Given the description of an element on the screen output the (x, y) to click on. 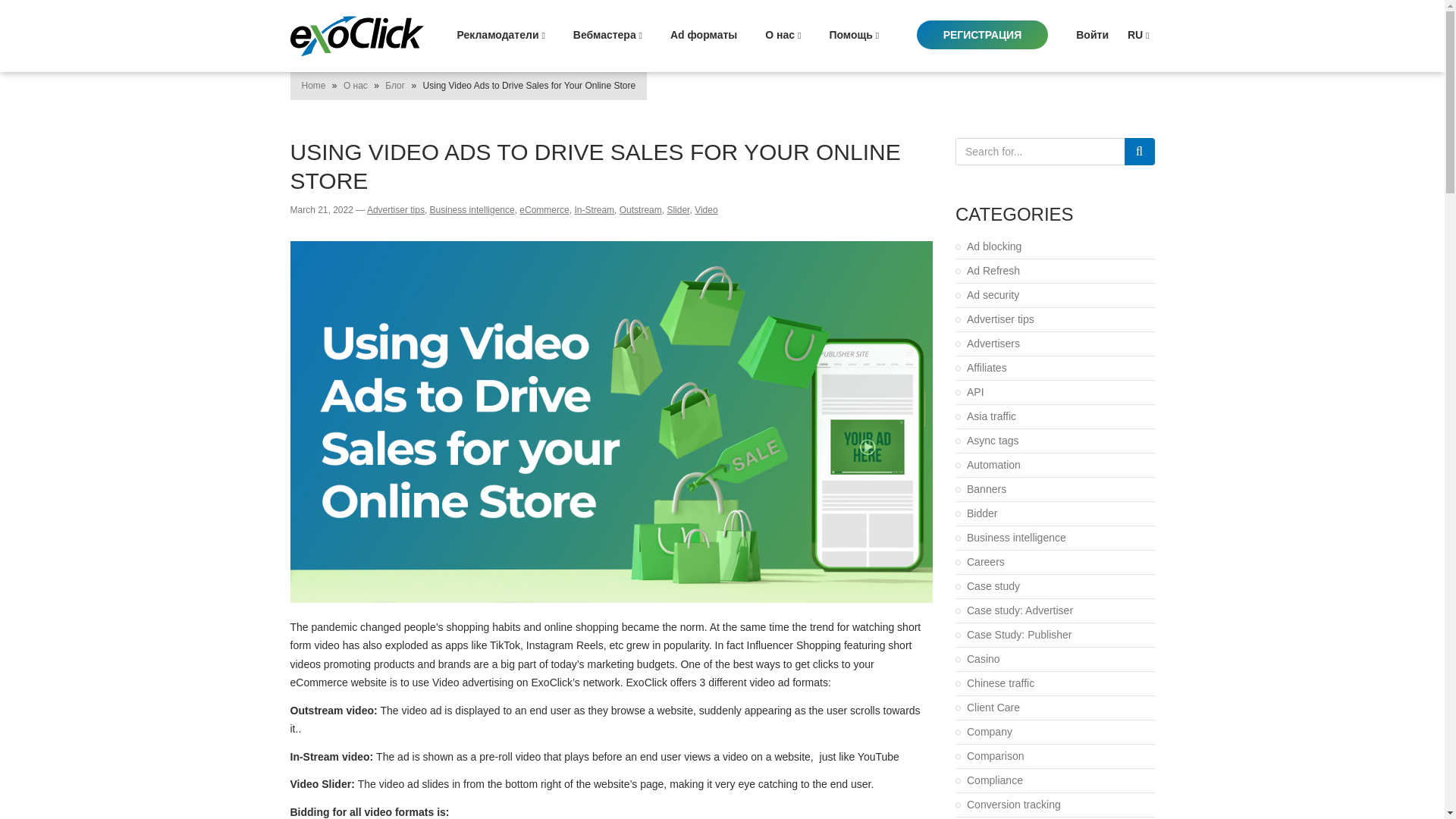
eCommerce (544, 209)
Home (313, 85)
Advertiser tips (395, 209)
Business intelligence (472, 209)
